Given the description of an element on the screen output the (x, y) to click on. 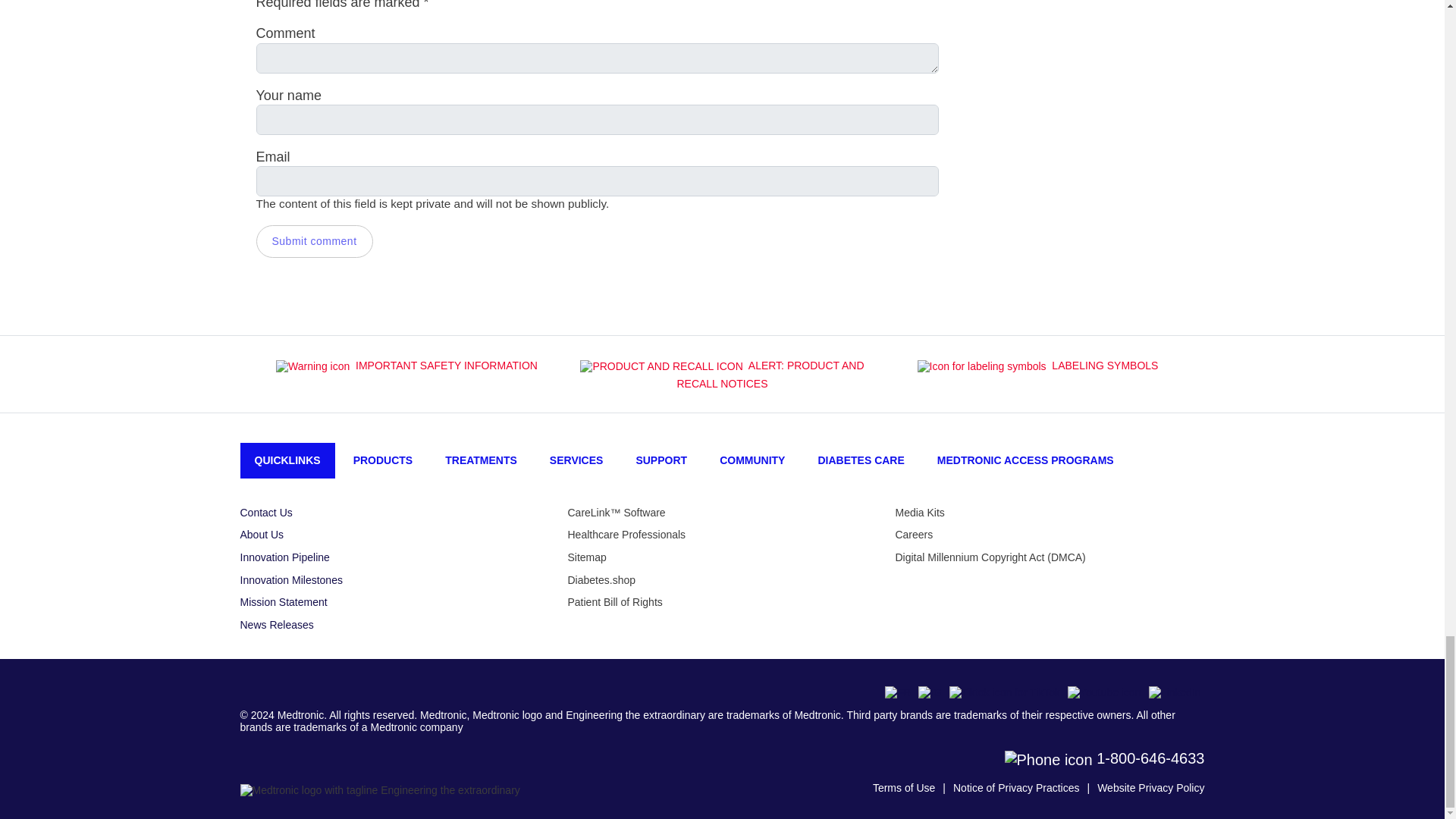
Submit comment (314, 241)
